Given the description of an element on the screen output the (x, y) to click on. 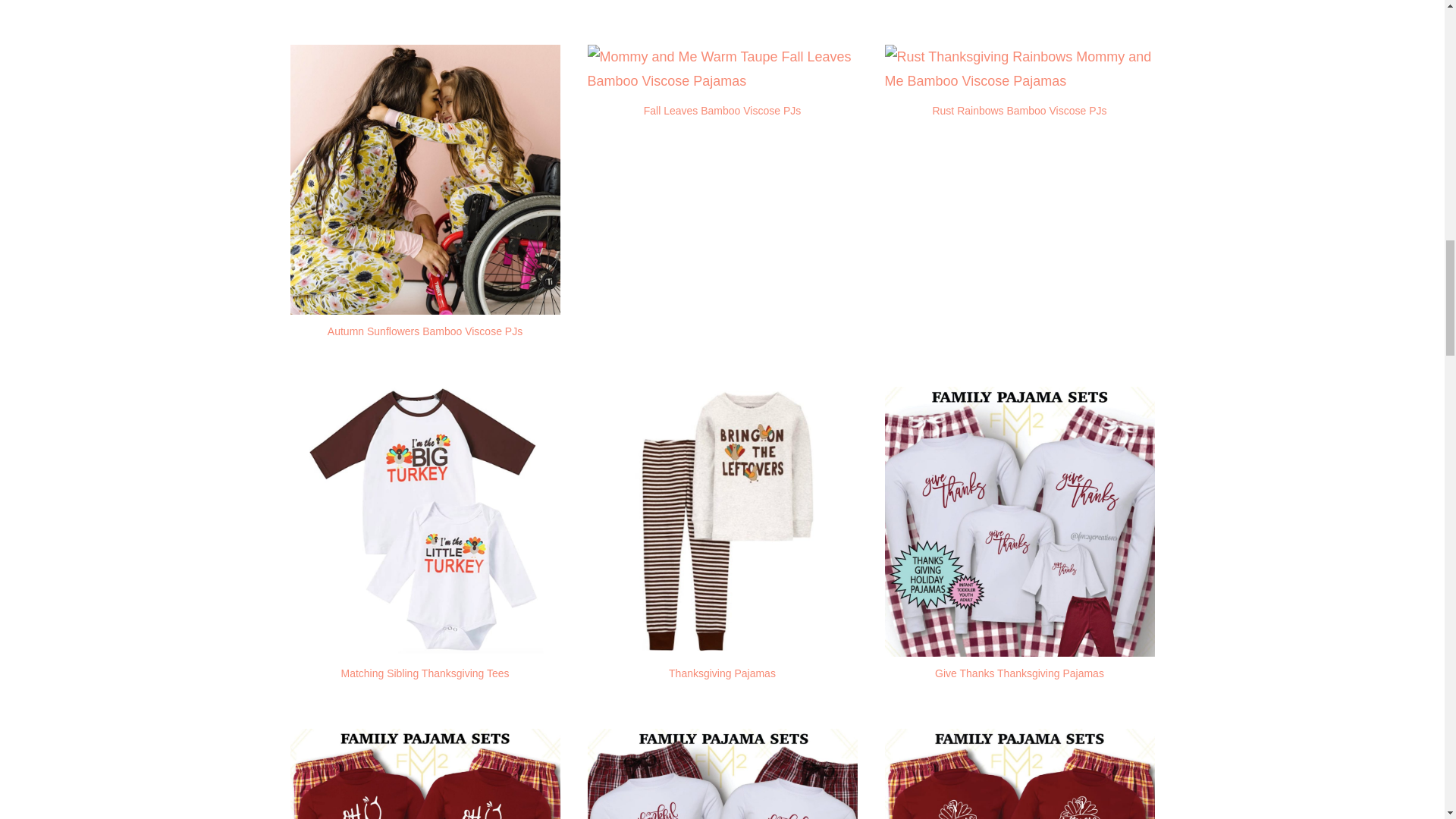
Oh Snap Family Matching Thanksgiving Pajamas (424, 773)
Autumn Sunflowers Family Matching Bamboo Viscose Pajamas (424, 301)
Rust Rainbows Bamboo Viscose PJs (1018, 110)
Bring on the Leftovers Thanksgiving Pajamas (721, 521)
Matching Sibling Thanksgiving Tees (424, 673)
Matching Sibling Thanksgiving Tees (424, 521)
Autumn Sunflowers Bamboo Viscose PJs (424, 331)
Give Thanks Family Matching Thanksgiving Pajamas (1018, 521)
Fall Leaves Bamboo Viscose PJs (722, 110)
